Given the description of an element on the screen output the (x, y) to click on. 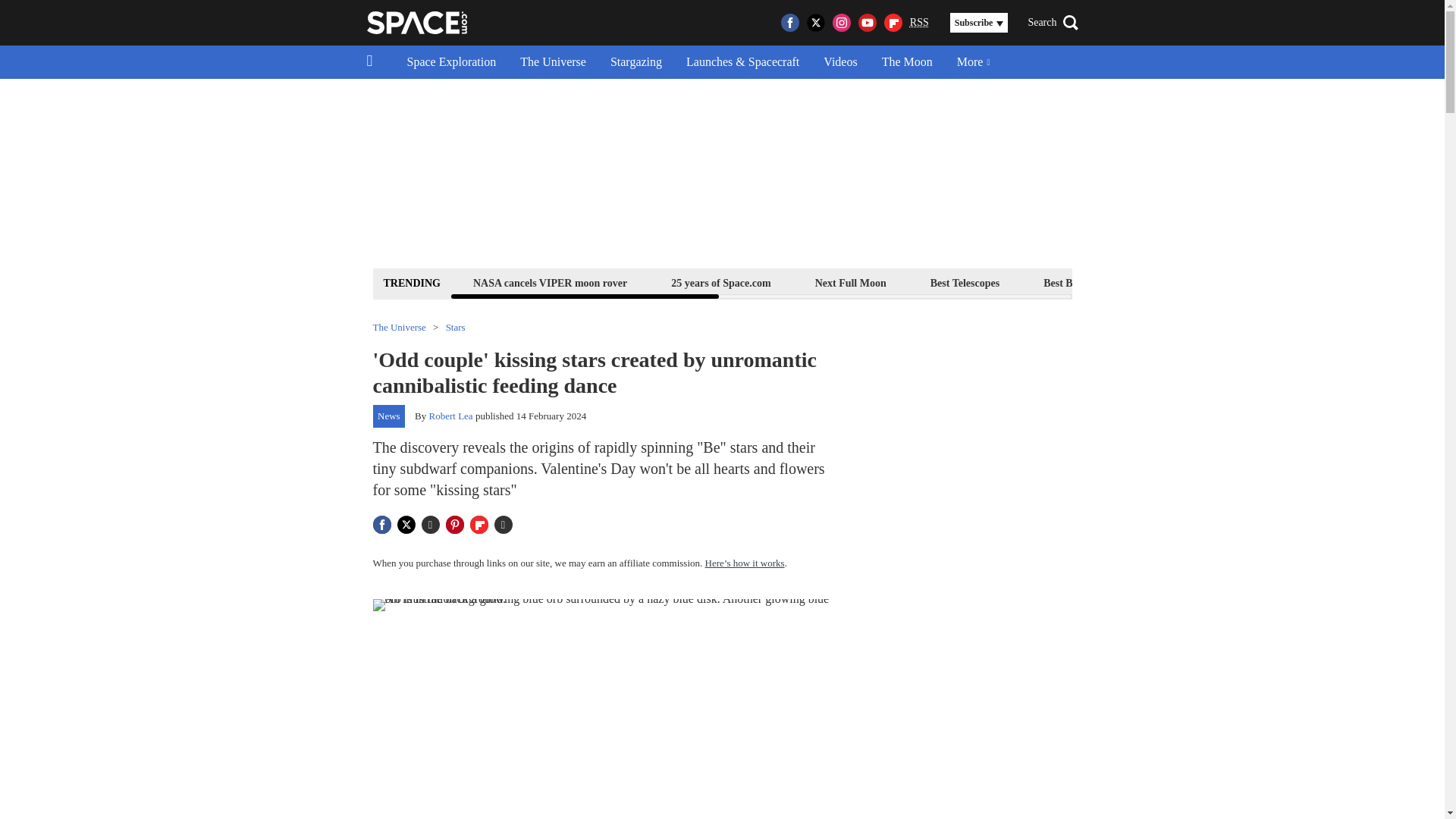
Space Exploration (451, 61)
NASA cancels VIPER moon rover (549, 282)
Best Telescopes (964, 282)
The Moon (906, 61)
Videos (839, 61)
Next Full Moon (850, 282)
Best Binoculars (1078, 282)
The Universe (553, 61)
RSS (919, 22)
Space Calendar (1329, 282)
Stargazing (636, 61)
25 years of Space.com (720, 282)
Really Simple Syndication (919, 21)
Best Star Projectors (1204, 282)
